Given the description of an element on the screen output the (x, y) to click on. 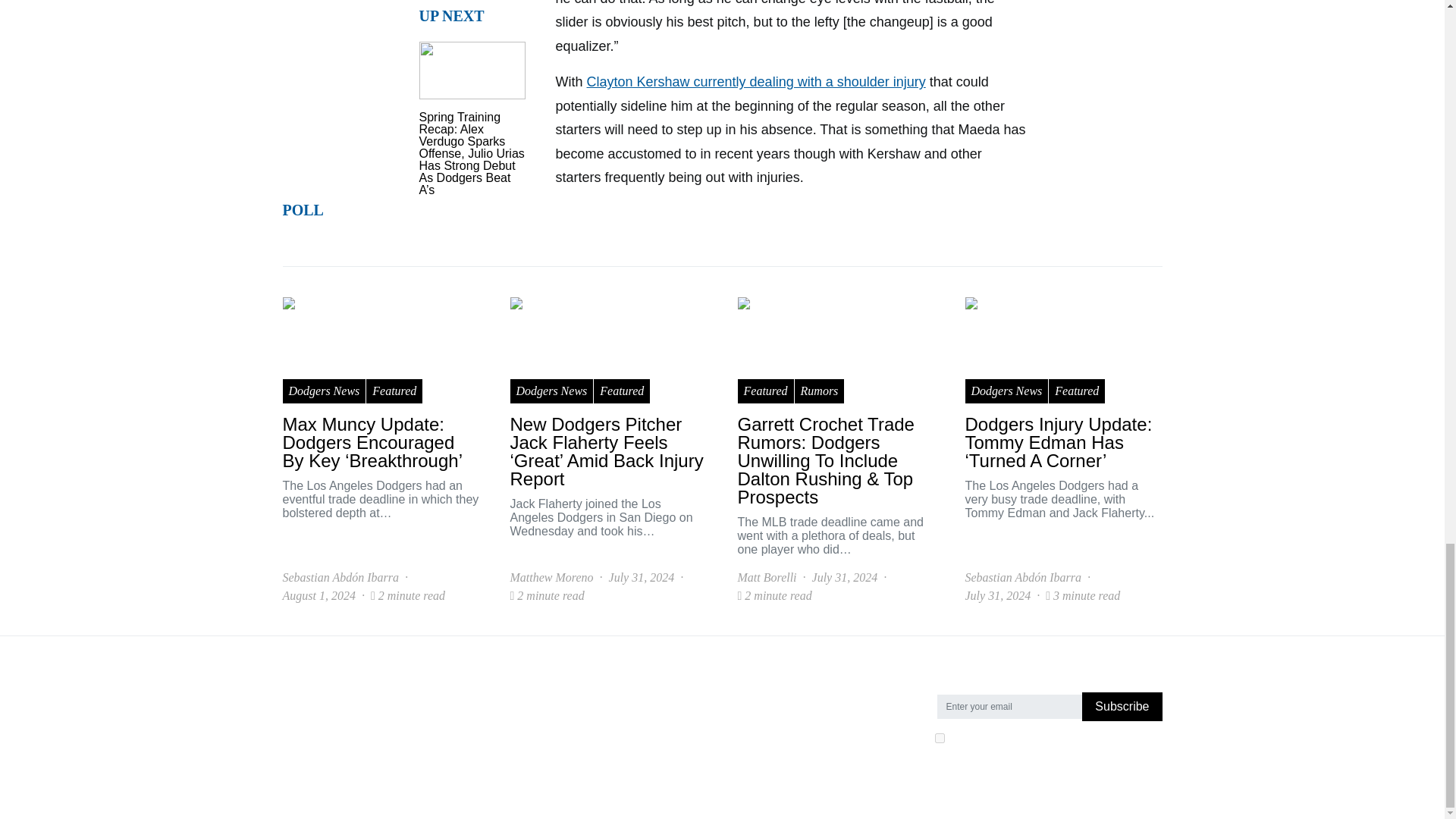
on (938, 737)
View all posts by Matthew Moreno (550, 577)
View all posts by Matt Borelli (766, 577)
